Given the description of an element on the screen output the (x, y) to click on. 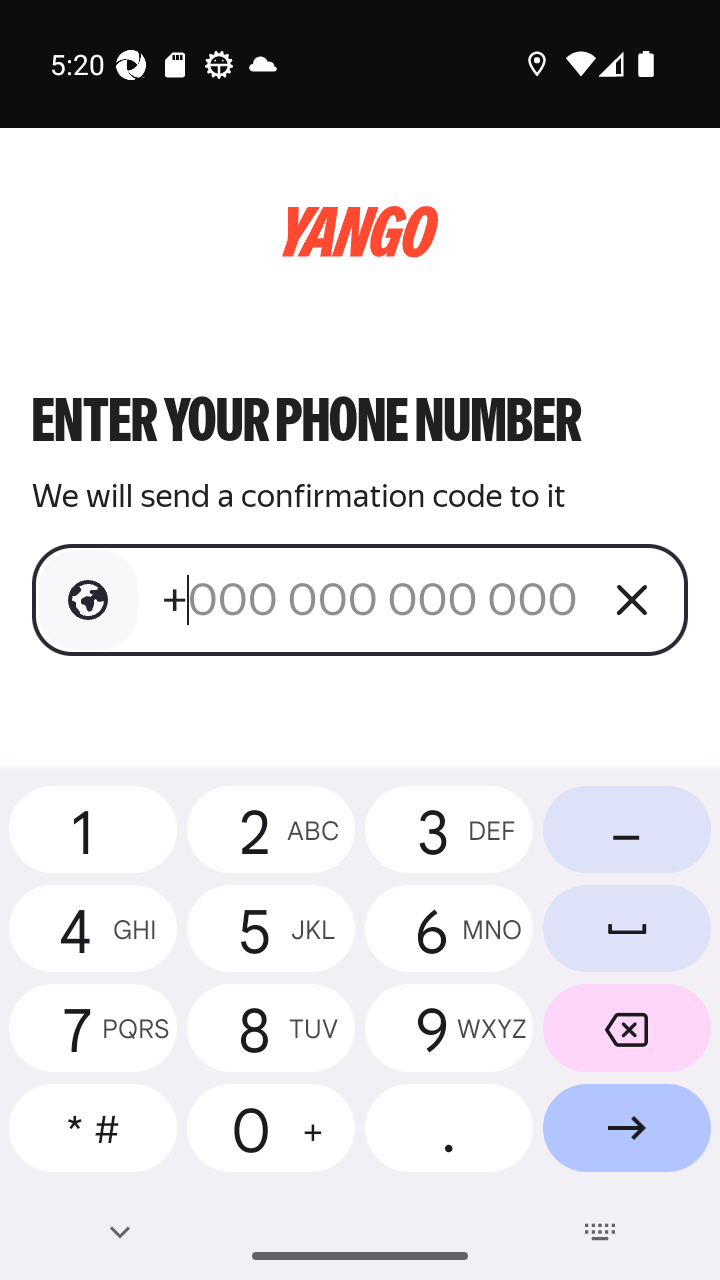
logo (359, 231)
  (88, 600)
+ (372, 599)
